Given the description of an element on the screen output the (x, y) to click on. 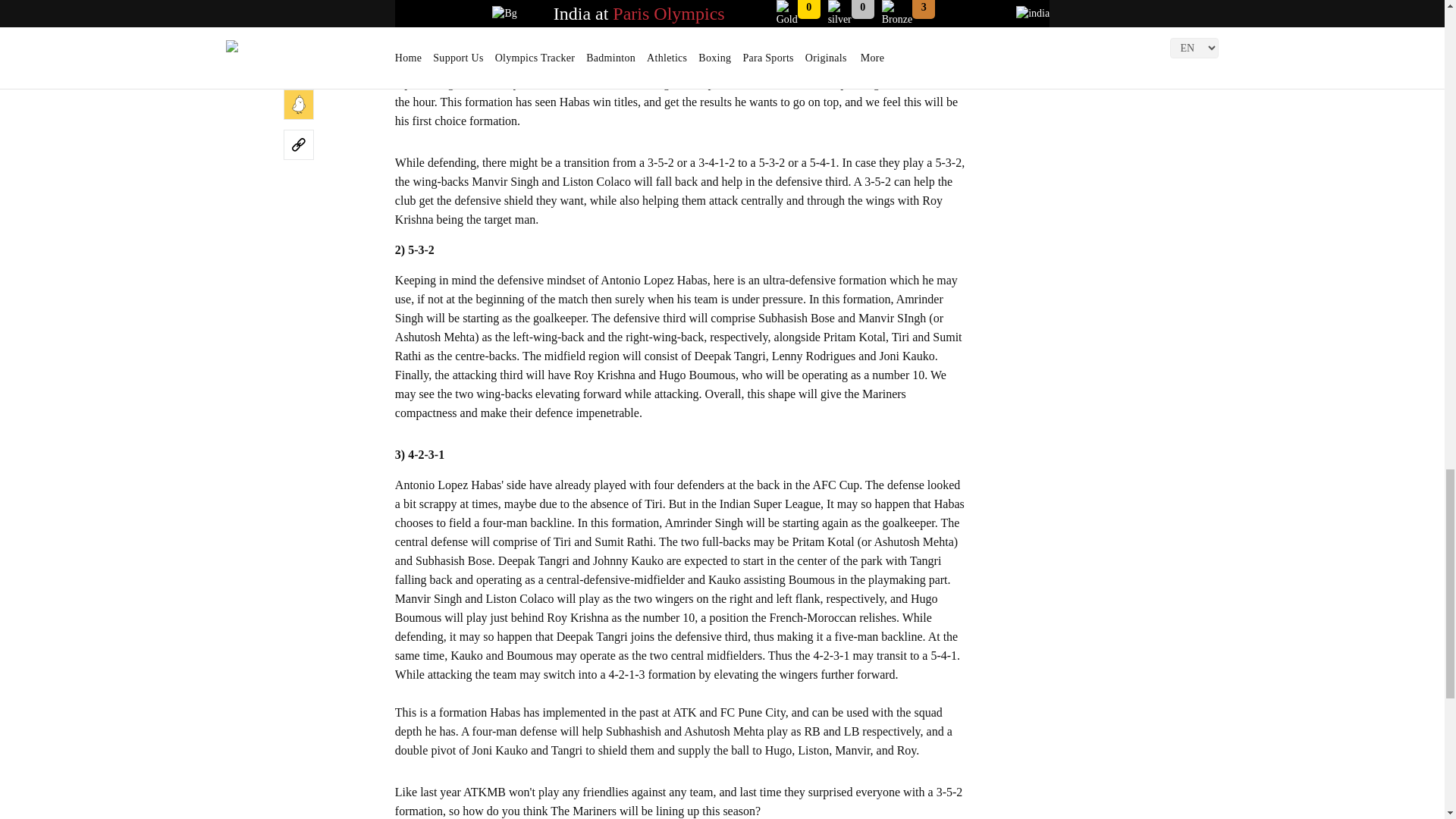
Share by Email (298, 24)
